Given the description of an element on the screen output the (x, y) to click on. 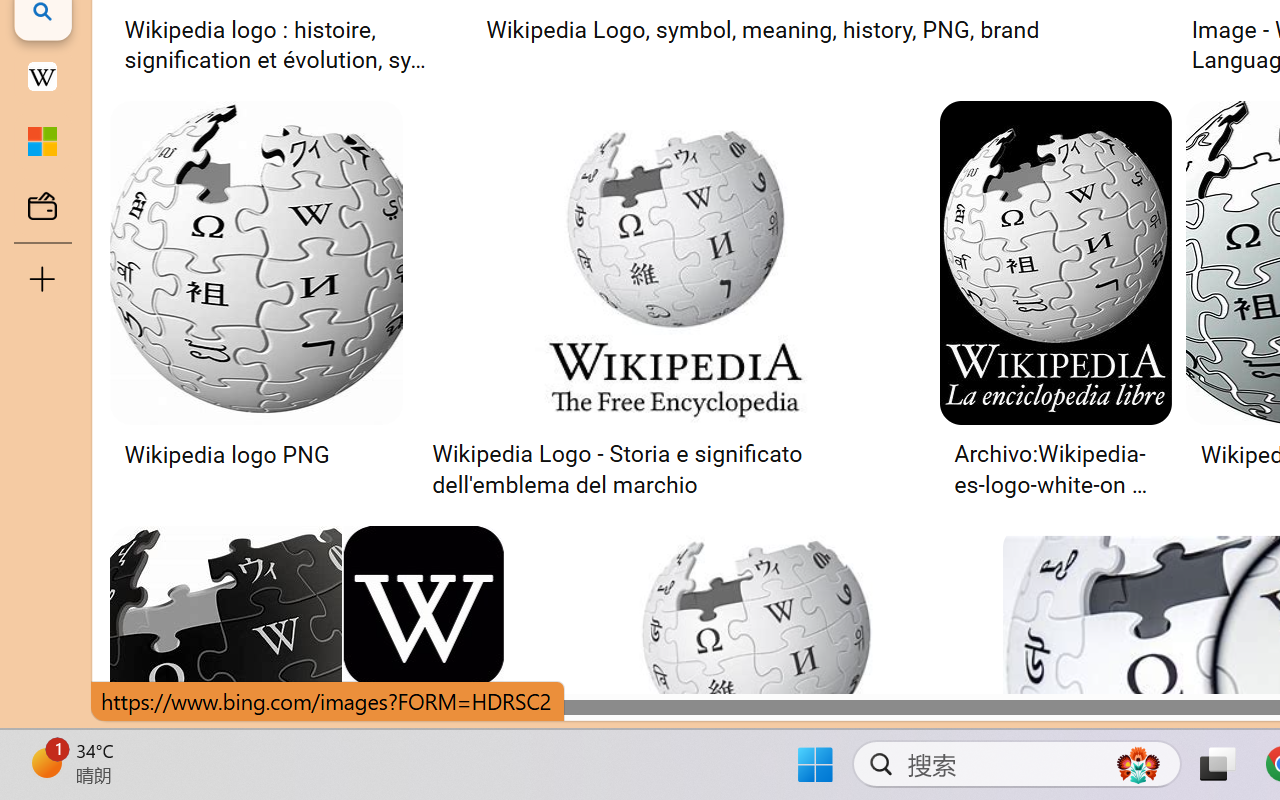
Wikipedia logo PNG (254, 455)
Wikipedia logo PNG (225, 455)
Wikipedia Logo, symbol, meaning, history, PNG, brand (762, 30)
Wikipedia Logo, symbol, meaning, history, PNG, brand (816, 30)
